Given the description of an element on the screen output the (x, y) to click on. 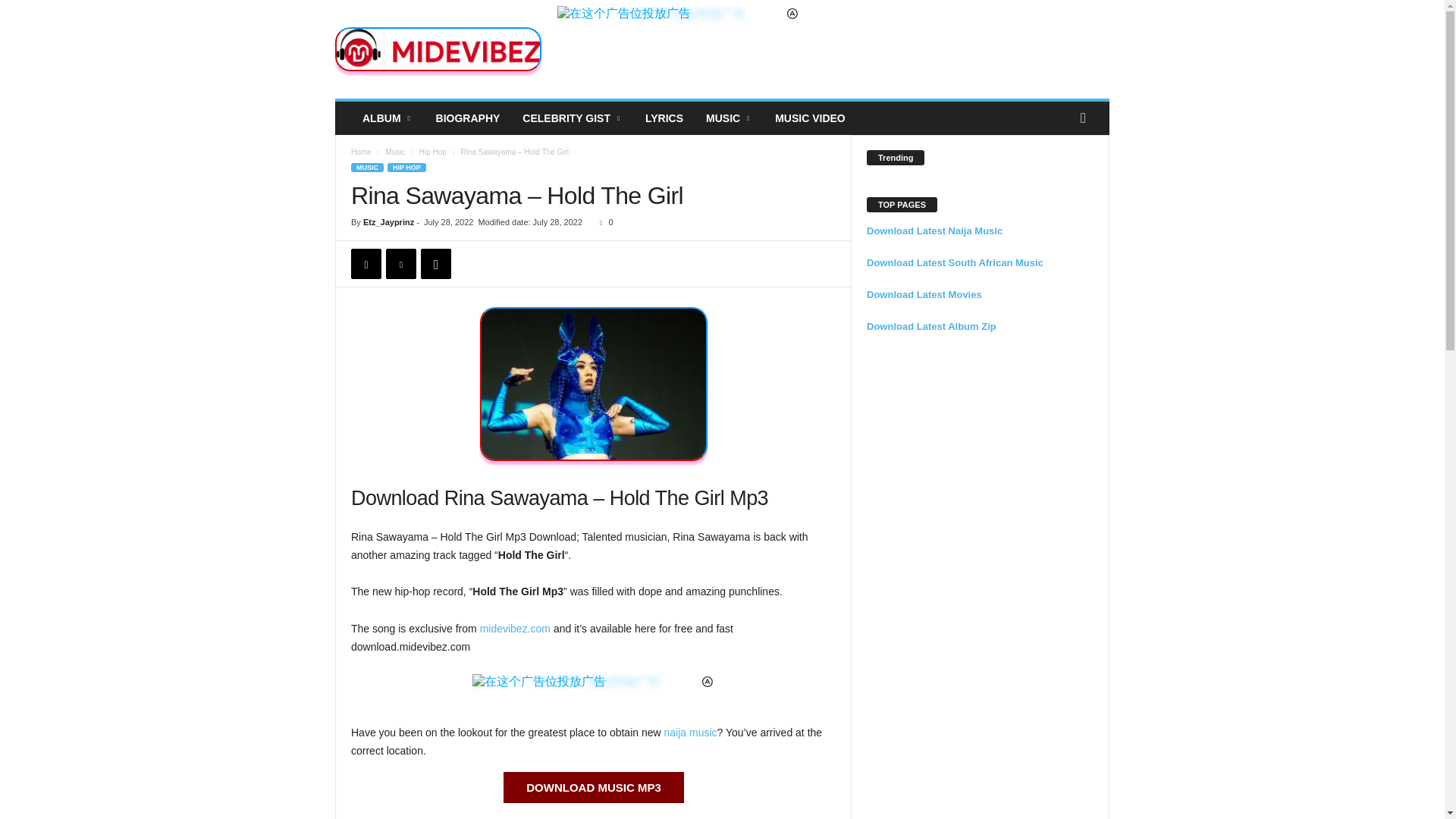
WhatsApp (435, 263)
View all posts in Music (394, 152)
Facebook (365, 263)
View all posts in Hip Hop (432, 152)
LYRICS (663, 118)
MUSIC (728, 118)
Twitter (400, 263)
MideVibez (437, 48)
ALBUM (387, 118)
CELEBRITY GIST (572, 118)
BIOGRAPHY (468, 118)
